Given the description of an element on the screen output the (x, y) to click on. 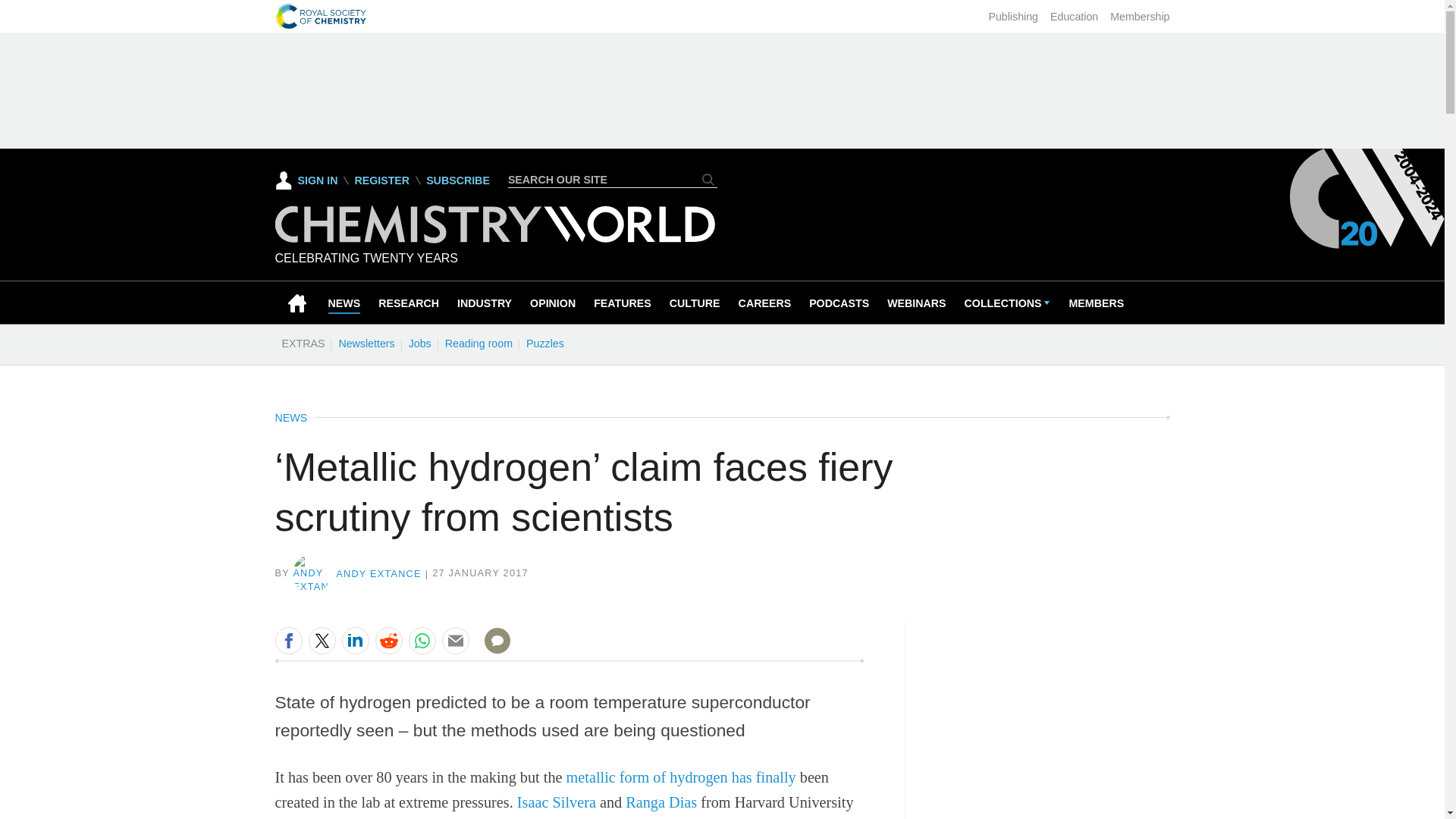
Chemistry World (494, 238)
Share this by email (454, 640)
NO COMMENTS (492, 649)
Education (1073, 16)
Newsletters (366, 343)
Reading room (478, 343)
Share this on WhatsApp (421, 640)
Share this on LinkedIn (354, 640)
Publishing (1013, 16)
SIGN IN (306, 180)
